Given the description of an element on the screen output the (x, y) to click on. 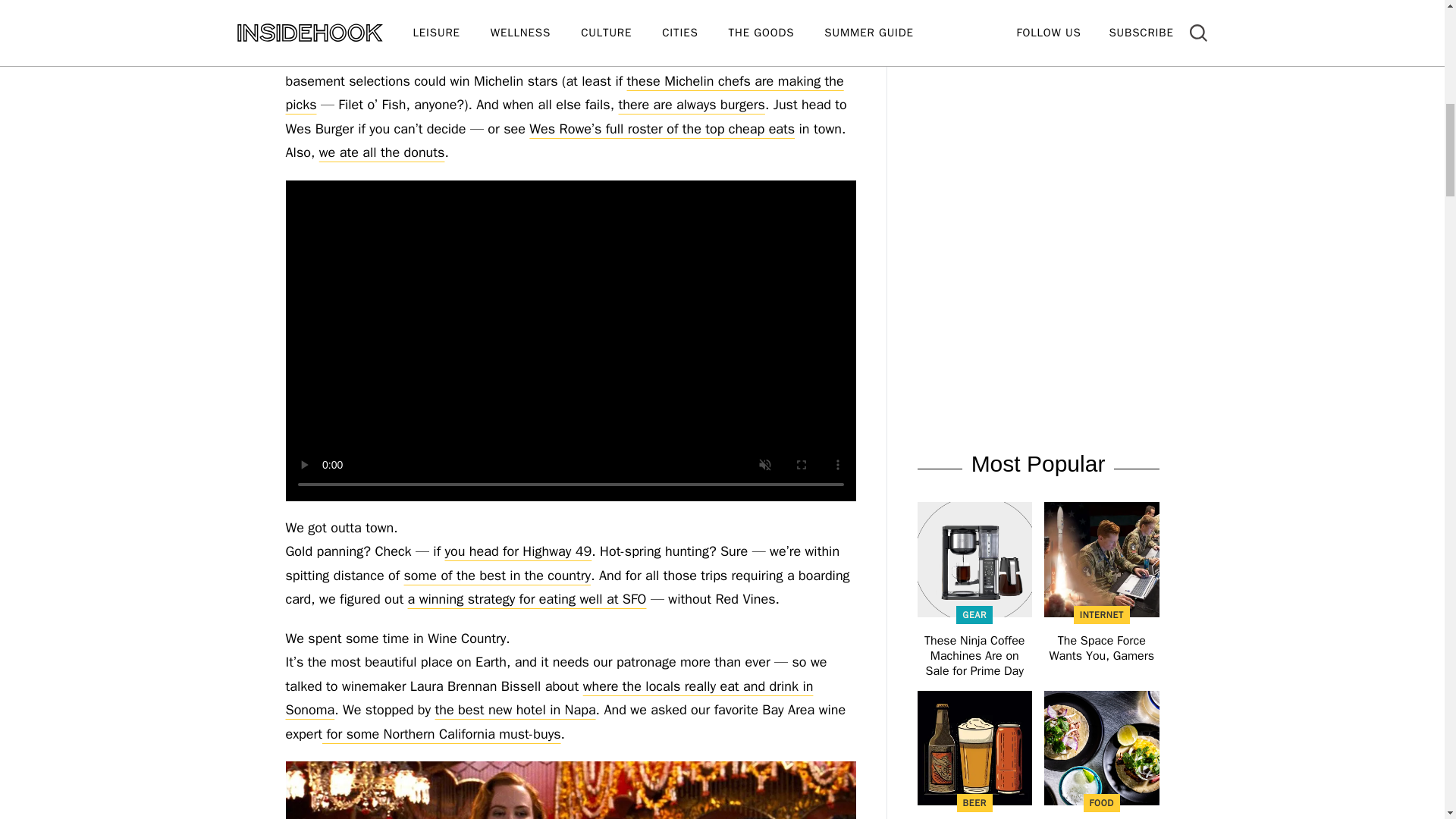
3rd party ad content (1037, 125)
